Given the description of an element on the screen output the (x, y) to click on. 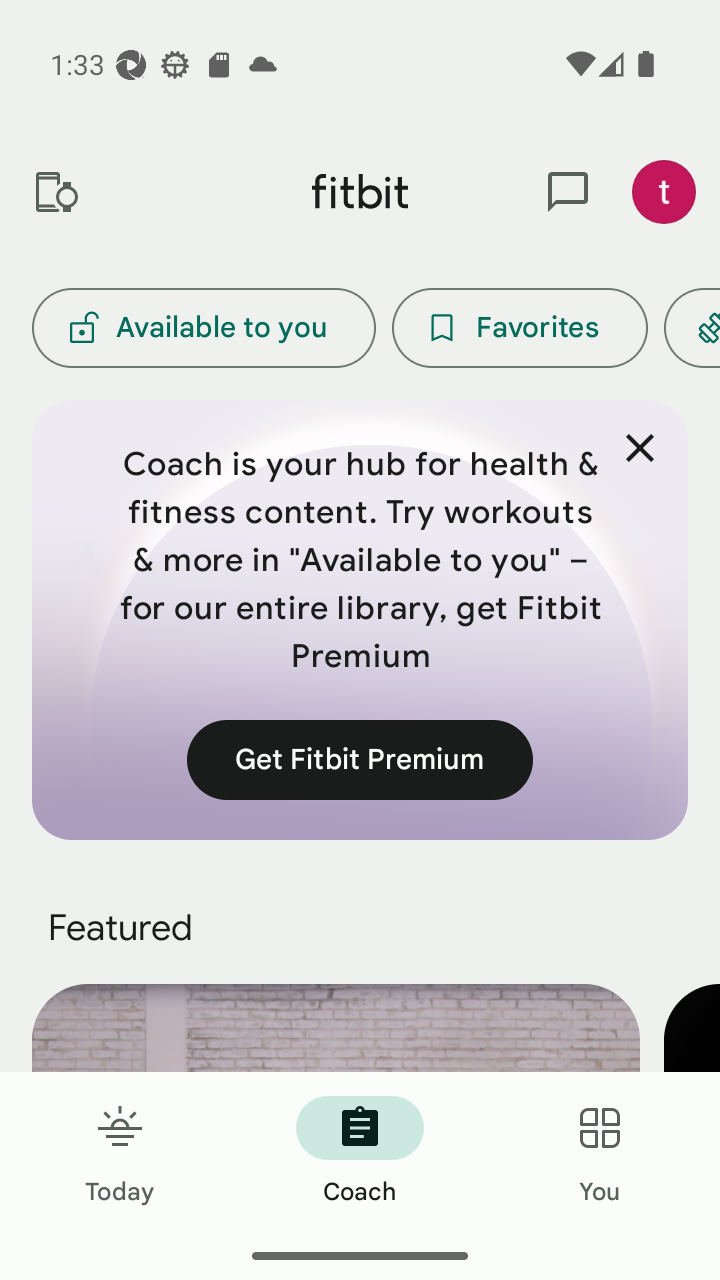
Devices and apps (55, 191)
messages and notifications (567, 191)
Available to you (203, 328)
Favorites (519, 328)
Close promotional content (639, 447)
Get Fitbit Premium (359, 759)
Today (119, 1151)
You (600, 1151)
